Given the description of an element on the screen output the (x, y) to click on. 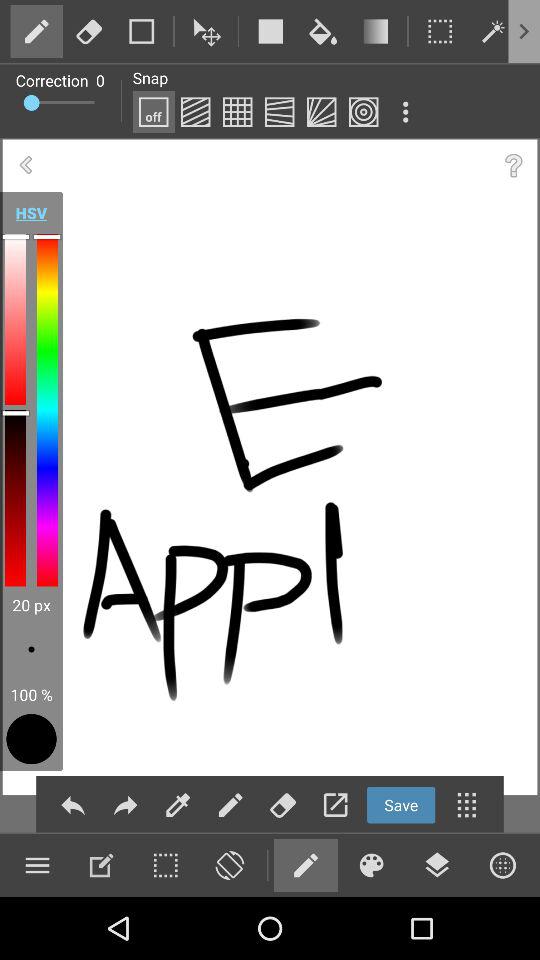
use pencil (305, 865)
